Given the description of an element on the screen output the (x, y) to click on. 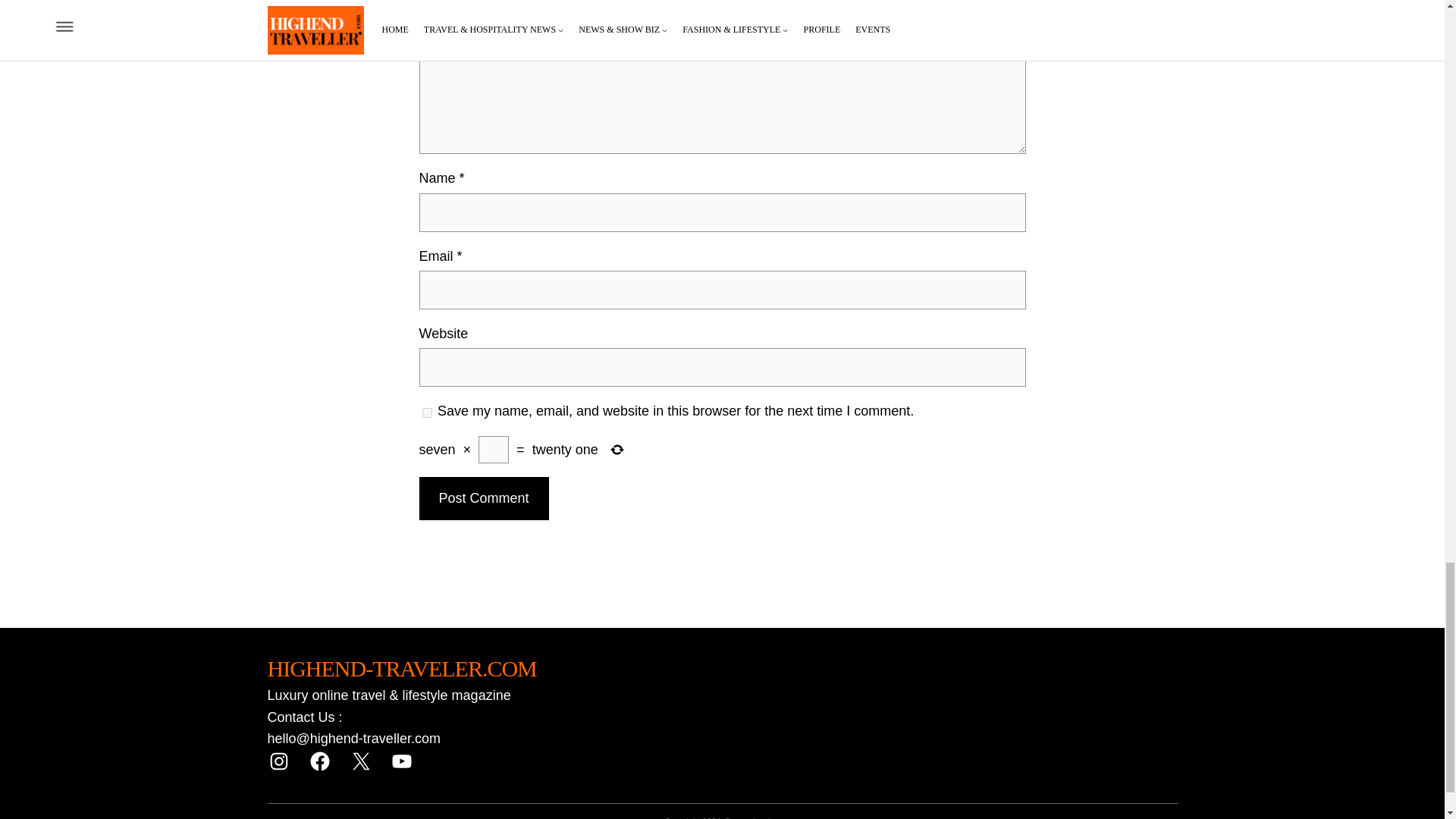
Post Comment (483, 498)
Post Comment (483, 498)
